Given the description of an element on the screen output the (x, y) to click on. 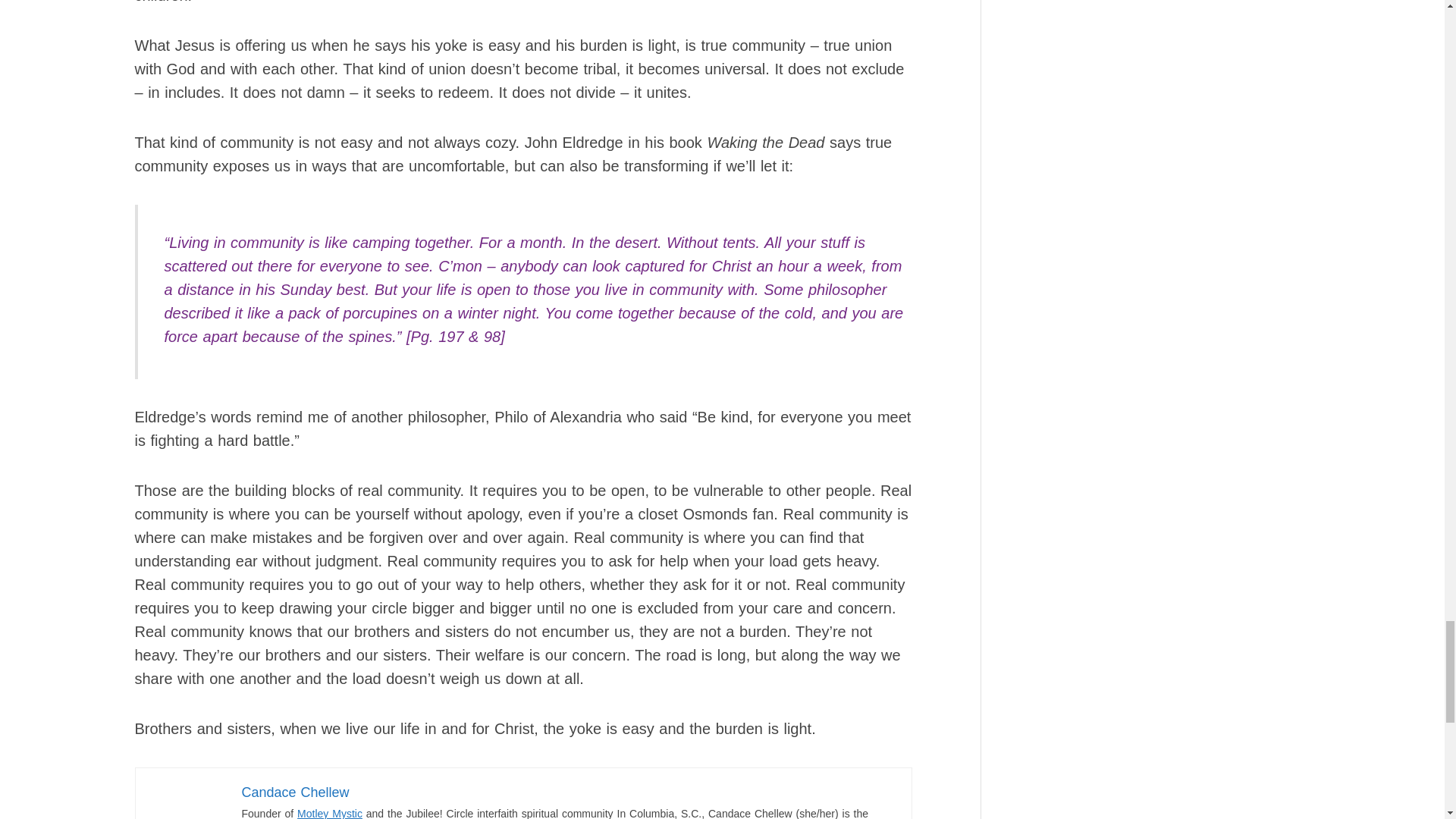
Motley Mystic (329, 813)
What a Load! 1 (187, 800)
Candace Chellew (295, 792)
Motley Mystic (329, 813)
